Given the description of an element on the screen output the (x, y) to click on. 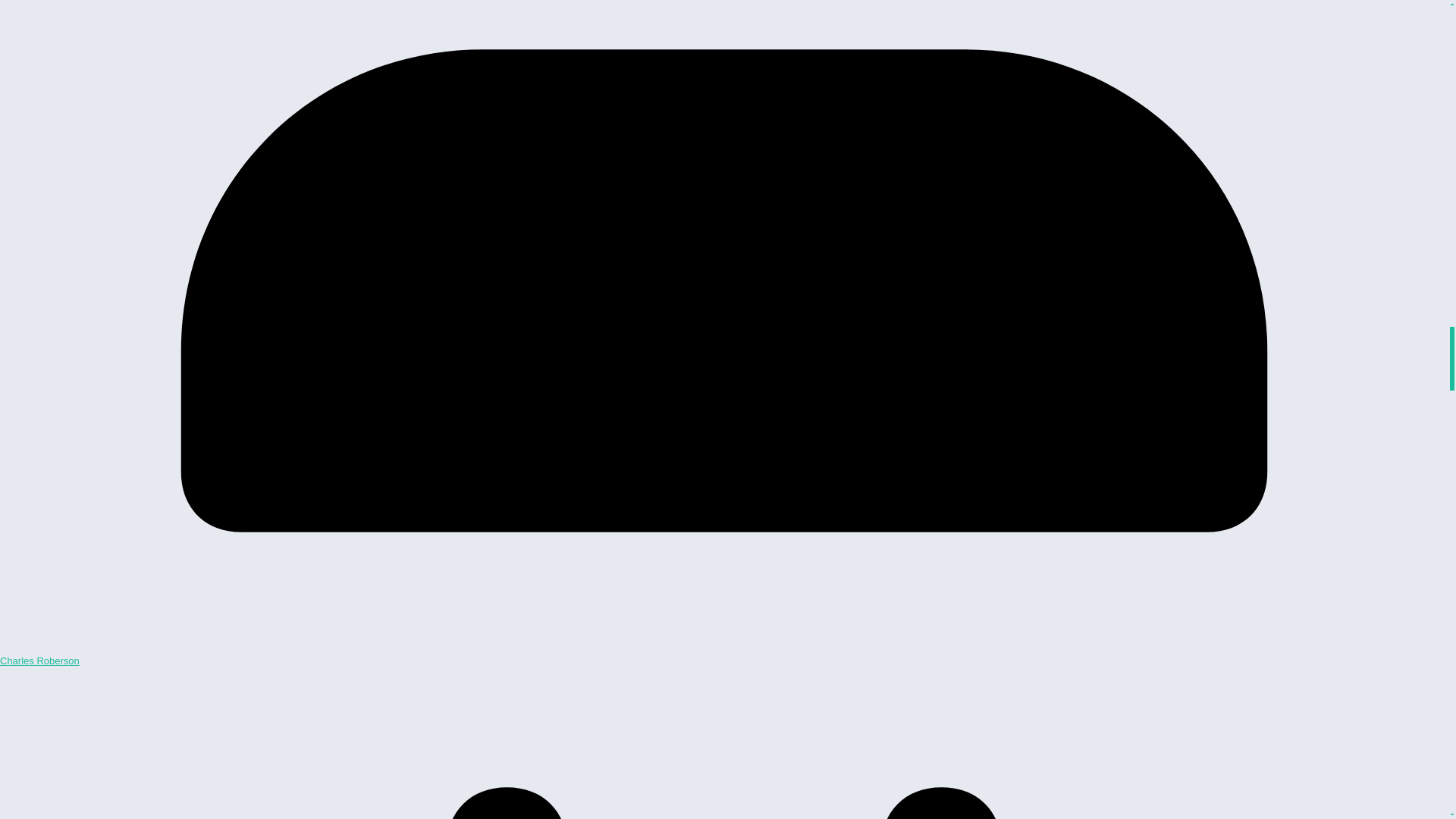
Charles Roberson (40, 660)
Charles Roberson (40, 660)
